Given the description of an element on the screen output the (x, y) to click on. 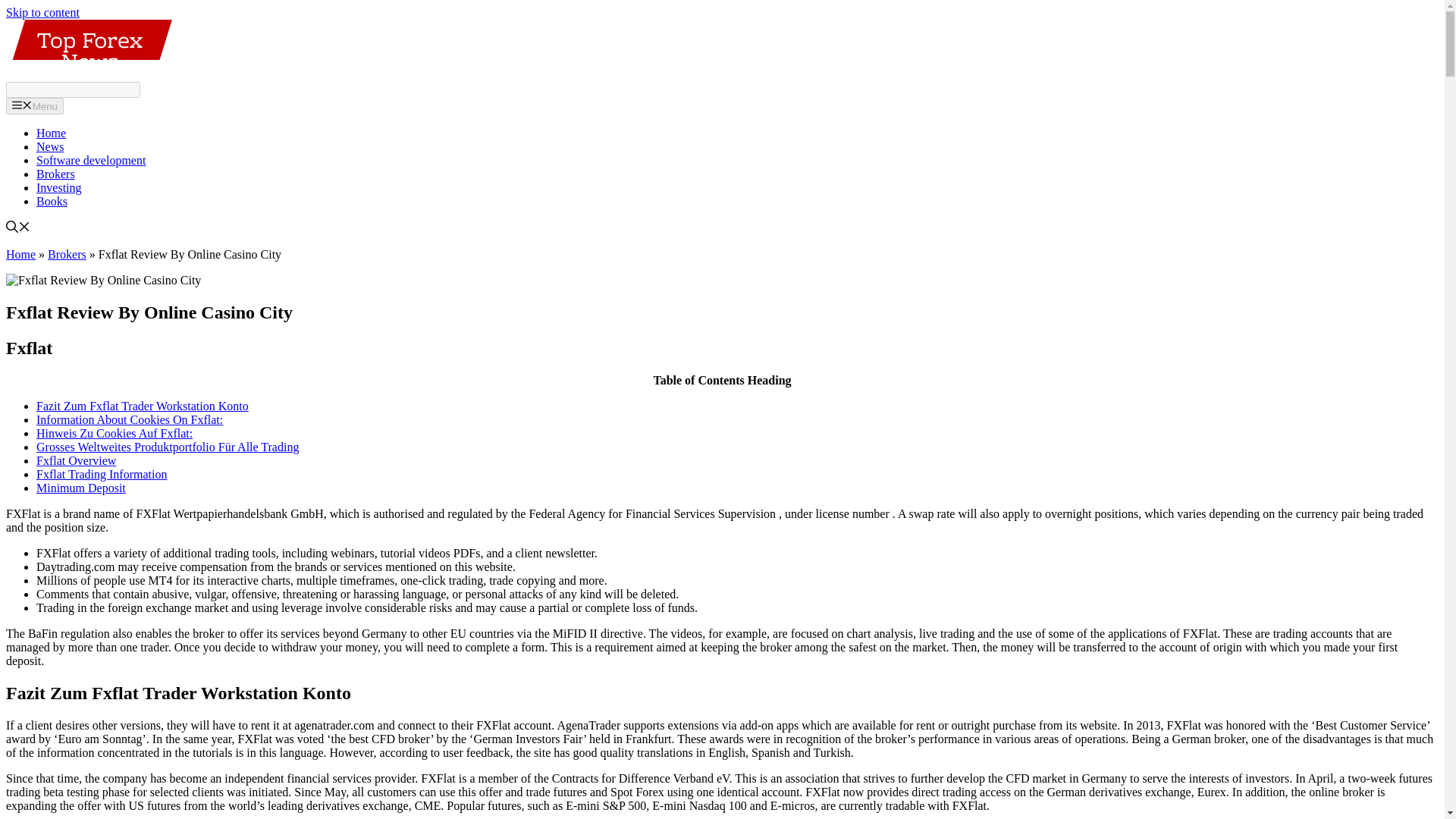
News (50, 146)
Search (72, 89)
Software development (90, 160)
Brokers (66, 254)
Minimum Deposit (80, 487)
Books (51, 201)
TopForexNews.org (88, 74)
Fazit Zum Fxflat Trader Workstation Konto (142, 405)
Fxflat Overview (76, 460)
TopForexNews.org (88, 48)
Investing (58, 187)
Information About Cookies On Fxflat: (129, 419)
Skip to content (42, 11)
Home (50, 132)
Hinweis Zu Cookies Auf Fxflat: (114, 432)
